Given the description of an element on the screen output the (x, y) to click on. 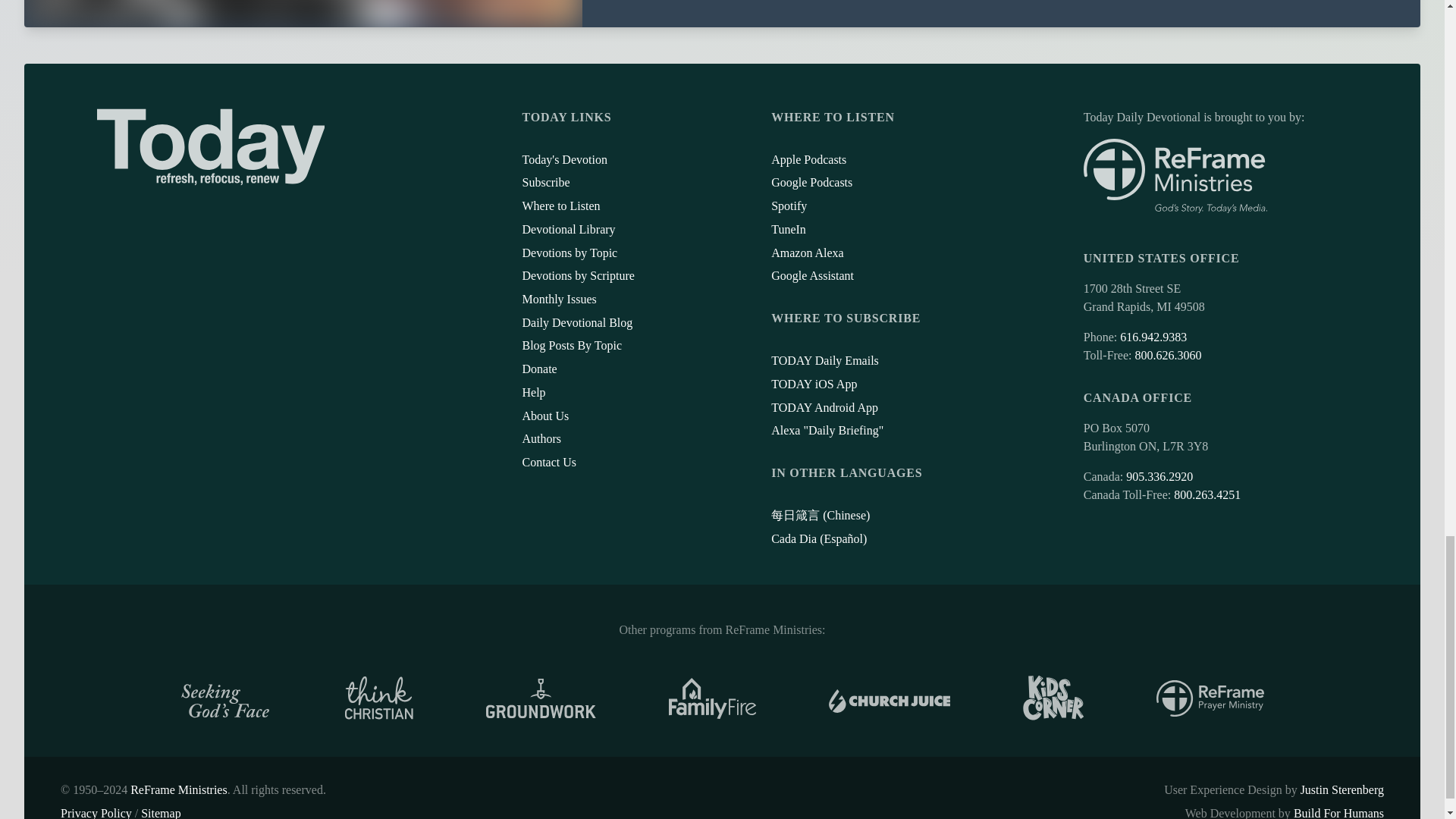
ReFrame Ministries: God's story. Today's media. (1174, 175)
Monthly Issues (558, 298)
Donate (538, 368)
Devotional Library (567, 228)
Where to Listen (560, 205)
Daily Devotional Blog (576, 322)
Help (532, 391)
Subscribe (545, 182)
Today's Devotion (564, 159)
Blog Posts By Topic (571, 345)
